Given the description of an element on the screen output the (x, y) to click on. 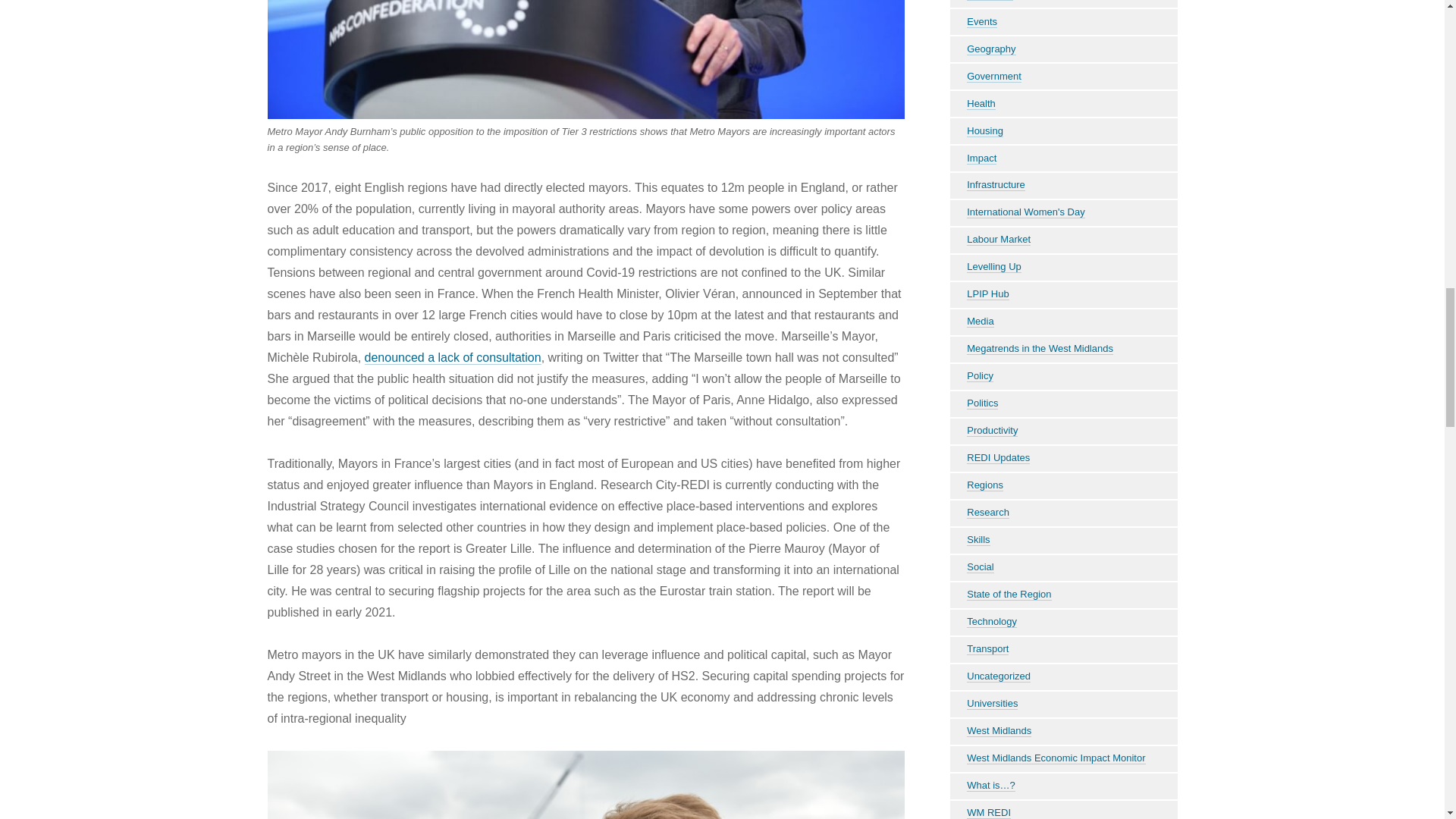
denounced a lack of consultation (453, 357)
